Given the description of an element on the screen output the (x, y) to click on. 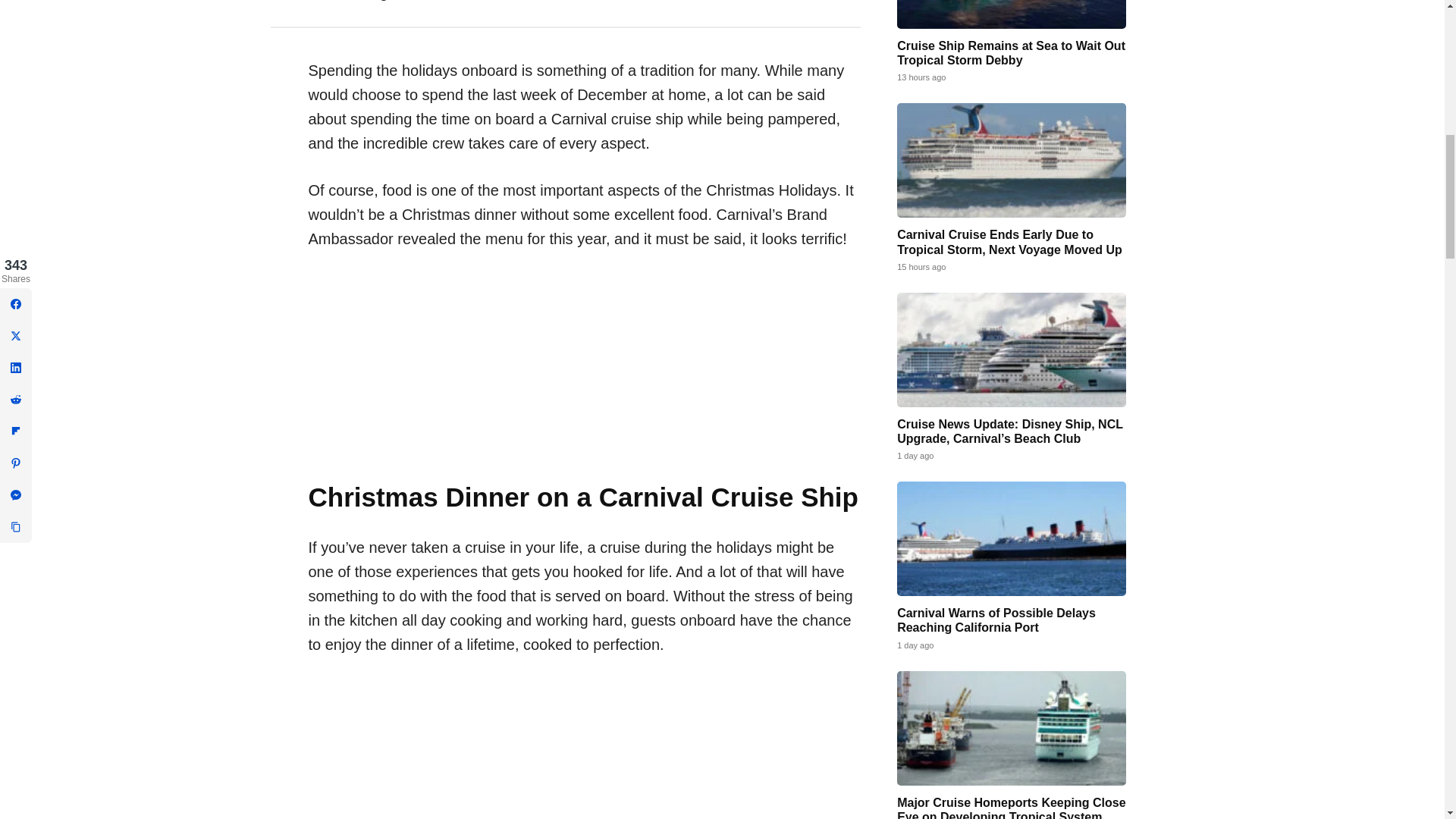
Cruise Ship Remains at Sea to Wait Out Tropical Storm Debby (1010, 52)
Carnival Warns of Possible Delays Reaching California Port (1010, 538)
Cruise Ship Remains at Sea to Wait Out Tropical Storm Debby (1010, 14)
Carnival Warns of Possible Delays Reaching California Port (996, 619)
